Given the description of an element on the screen output the (x, y) to click on. 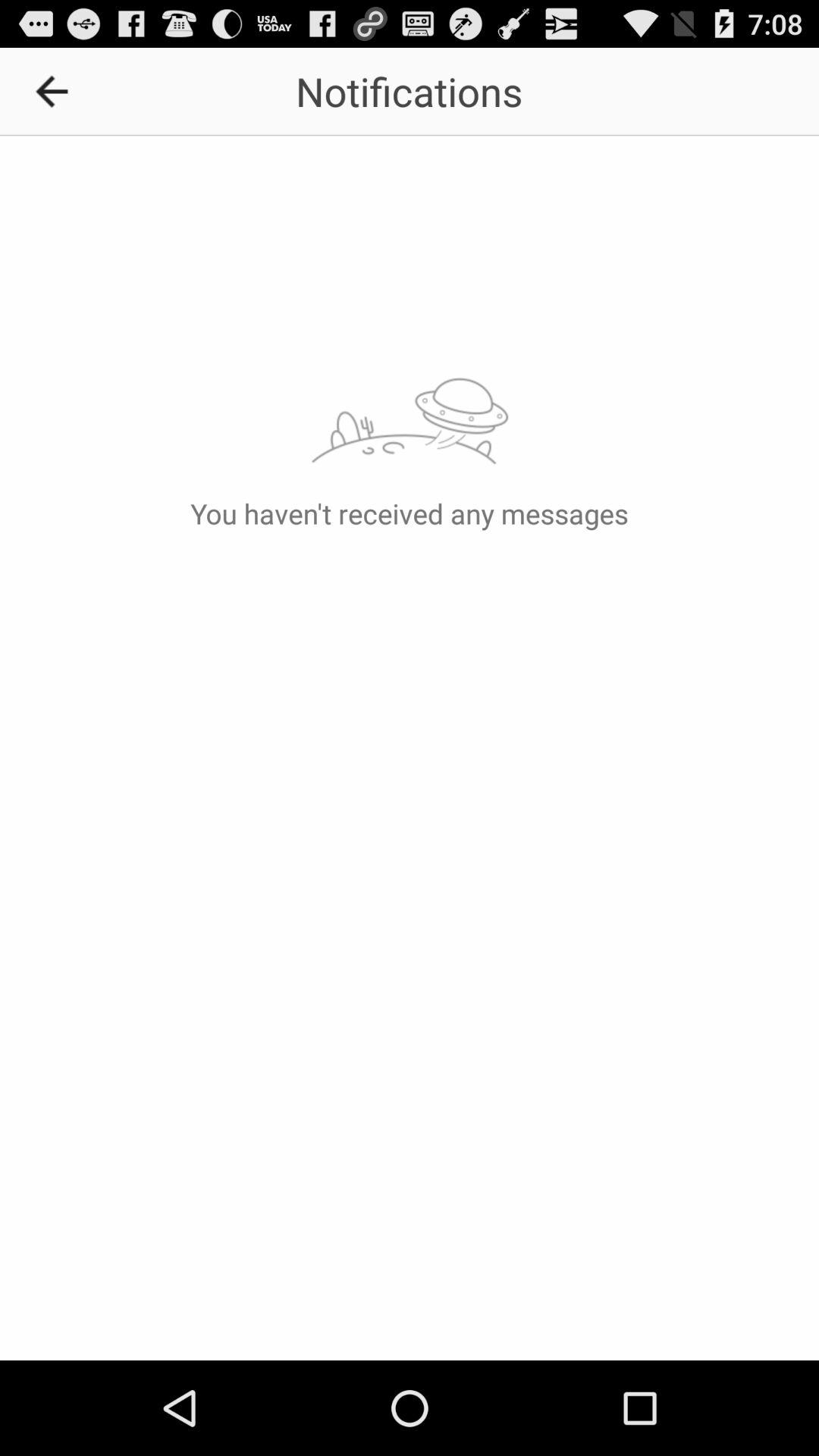
turn on icon (57, 91)
